Given the description of an element on the screen output the (x, y) to click on. 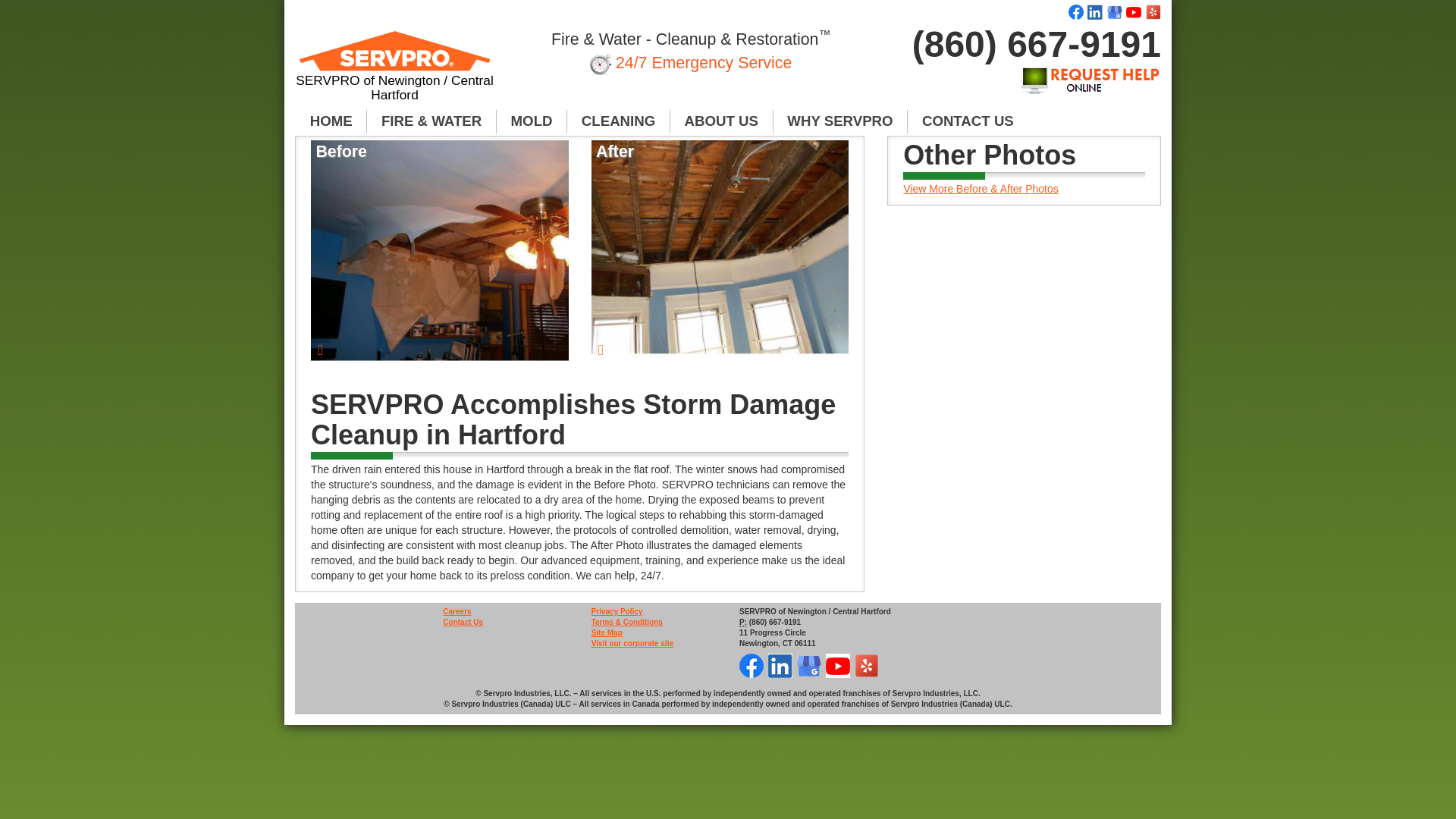
HOME (330, 121)
MOLD (531, 121)
CLEANING (618, 121)
ABOUT US (721, 121)
